Given the description of an element on the screen output the (x, y) to click on. 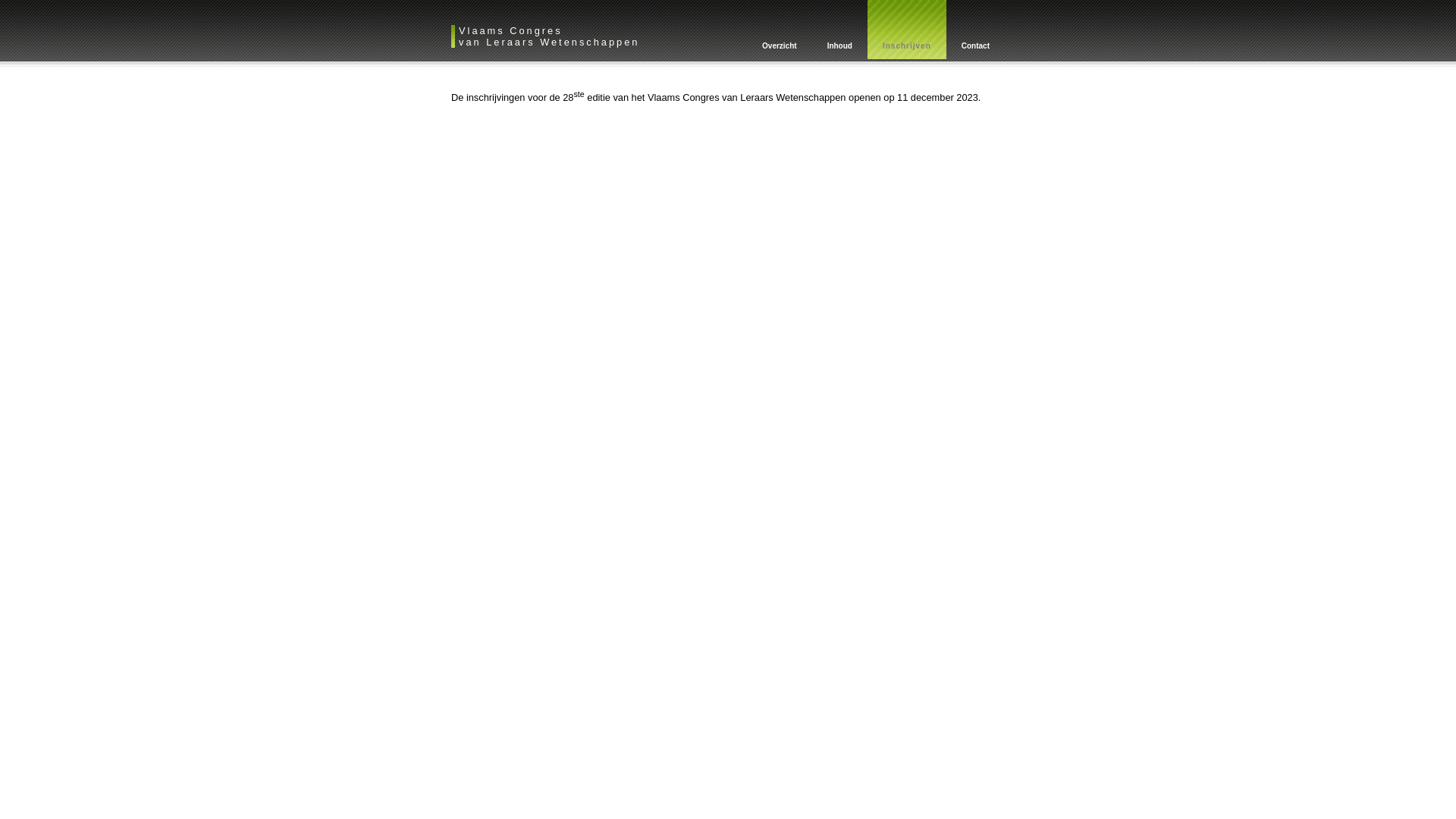
Inschrijven Element type: text (906, 29)
Overzicht Element type: text (779, 29)
Inhoud Element type: text (839, 29)
Contact Element type: text (975, 29)
Vlaams Congres
van Leraars Wetenschappen Element type: text (548, 36)
